Given the description of an element on the screen output the (x, y) to click on. 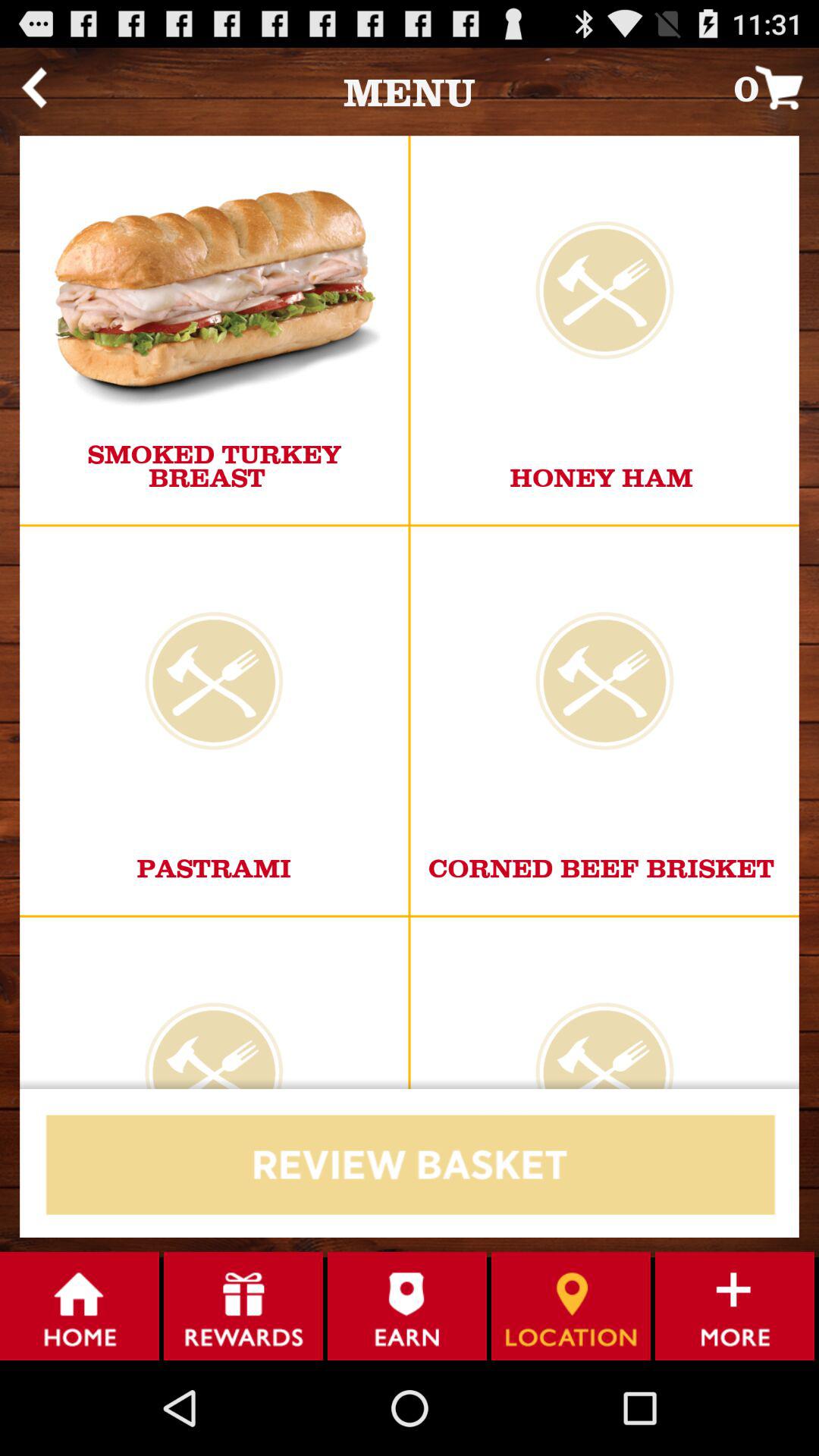
tap the item next to menu app (776, 87)
